Given the description of an element on the screen output the (x, y) to click on. 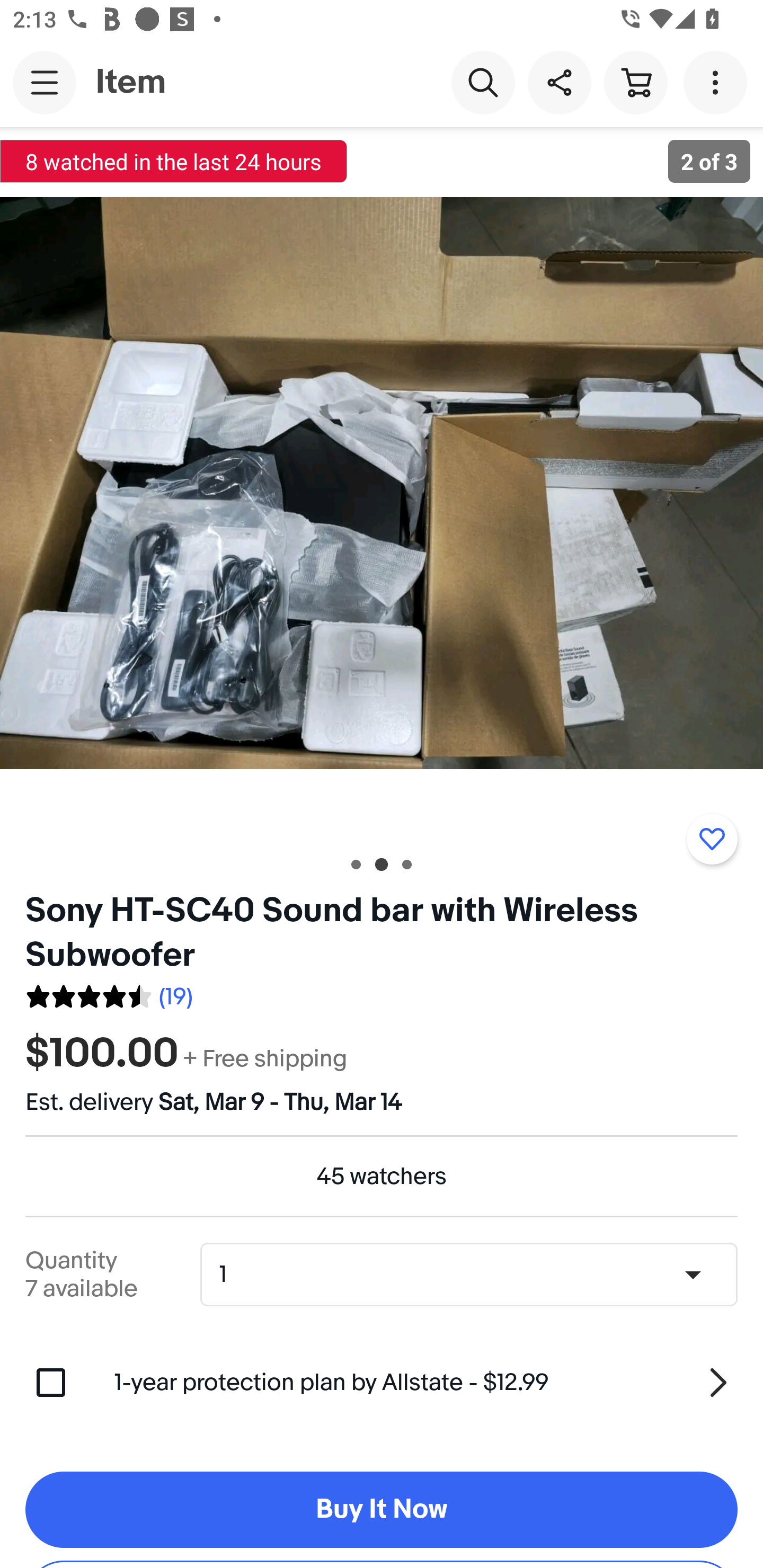
Main navigation, open (44, 82)
Search (482, 81)
Share this item (559, 81)
Cart button shopping cart (635, 81)
More options (718, 81)
Item image 2 of 3 (381, 482)
8 watched in the last 24 hours (173, 161)
Add to watchlist (711, 838)
Quantity,1,7 available 1 (474, 1274)
1-year protection plan by Allstate - $12.99 (425, 1382)
Buy It Now (381, 1509)
